Given the description of an element on the screen output the (x, y) to click on. 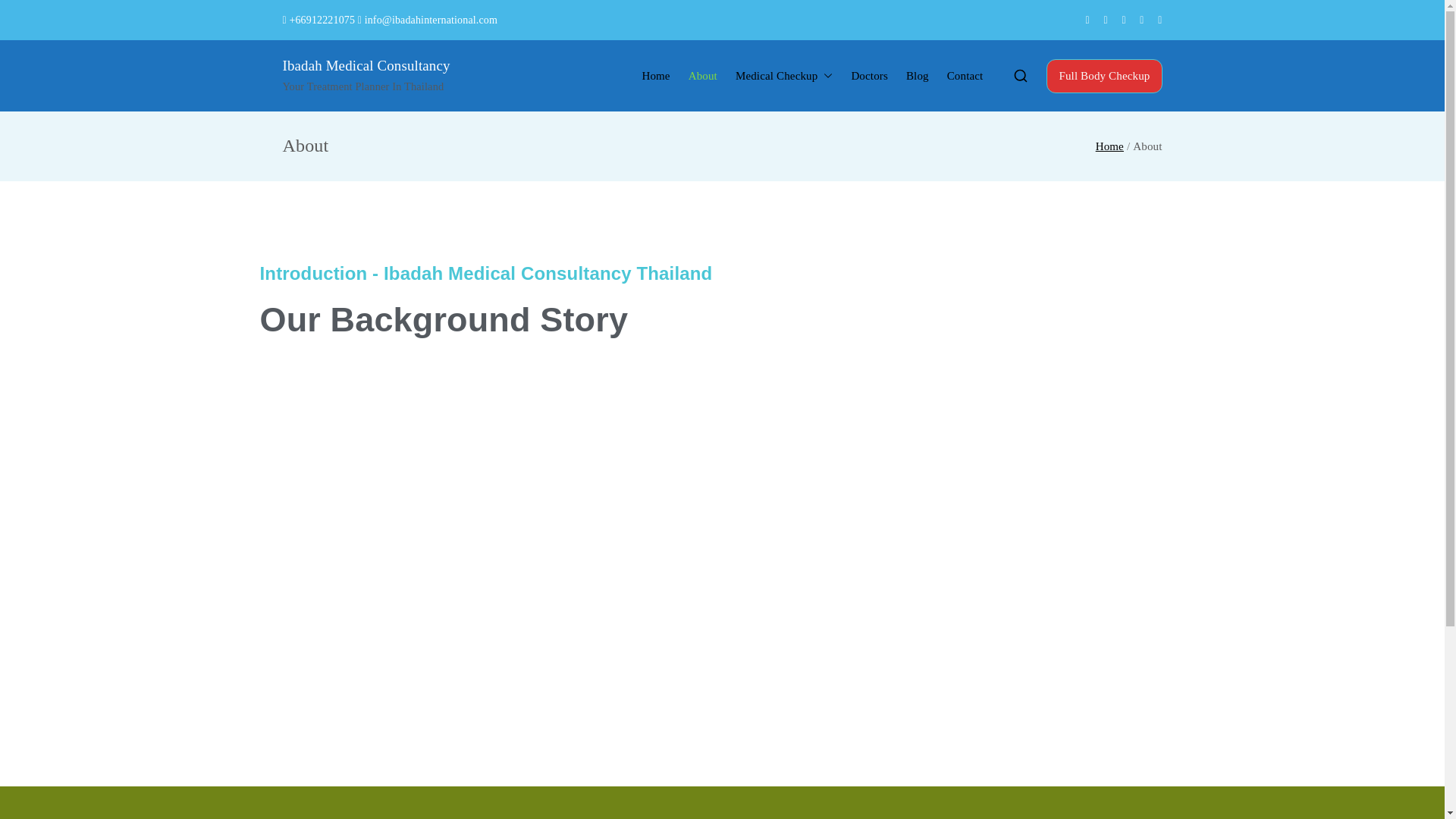
Contact (965, 76)
Doctors (869, 76)
Full Body Checkup (1103, 75)
Blog (916, 76)
About (702, 76)
Ibadah Medical Consultancy (365, 65)
Home (655, 76)
Search (26, 13)
Medical Checkup (783, 76)
